Given the description of an element on the screen output the (x, y) to click on. 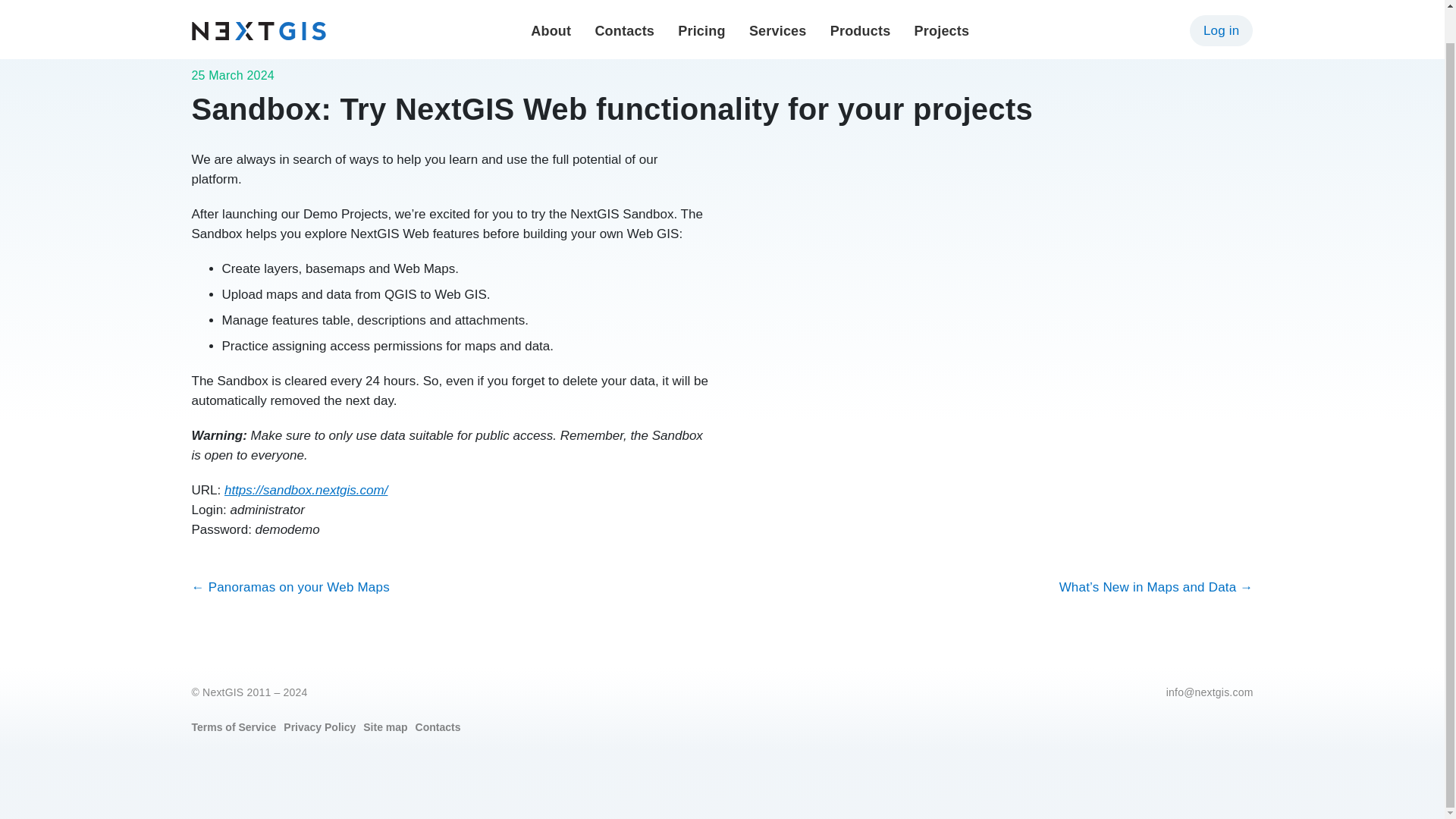
Products (860, 2)
About (550, 2)
Projects (941, 2)
Contacts (623, 2)
Log in (1221, 6)
Pricing (701, 2)
NextGIS (257, 2)
Services (777, 2)
